Given the description of an element on the screen output the (x, y) to click on. 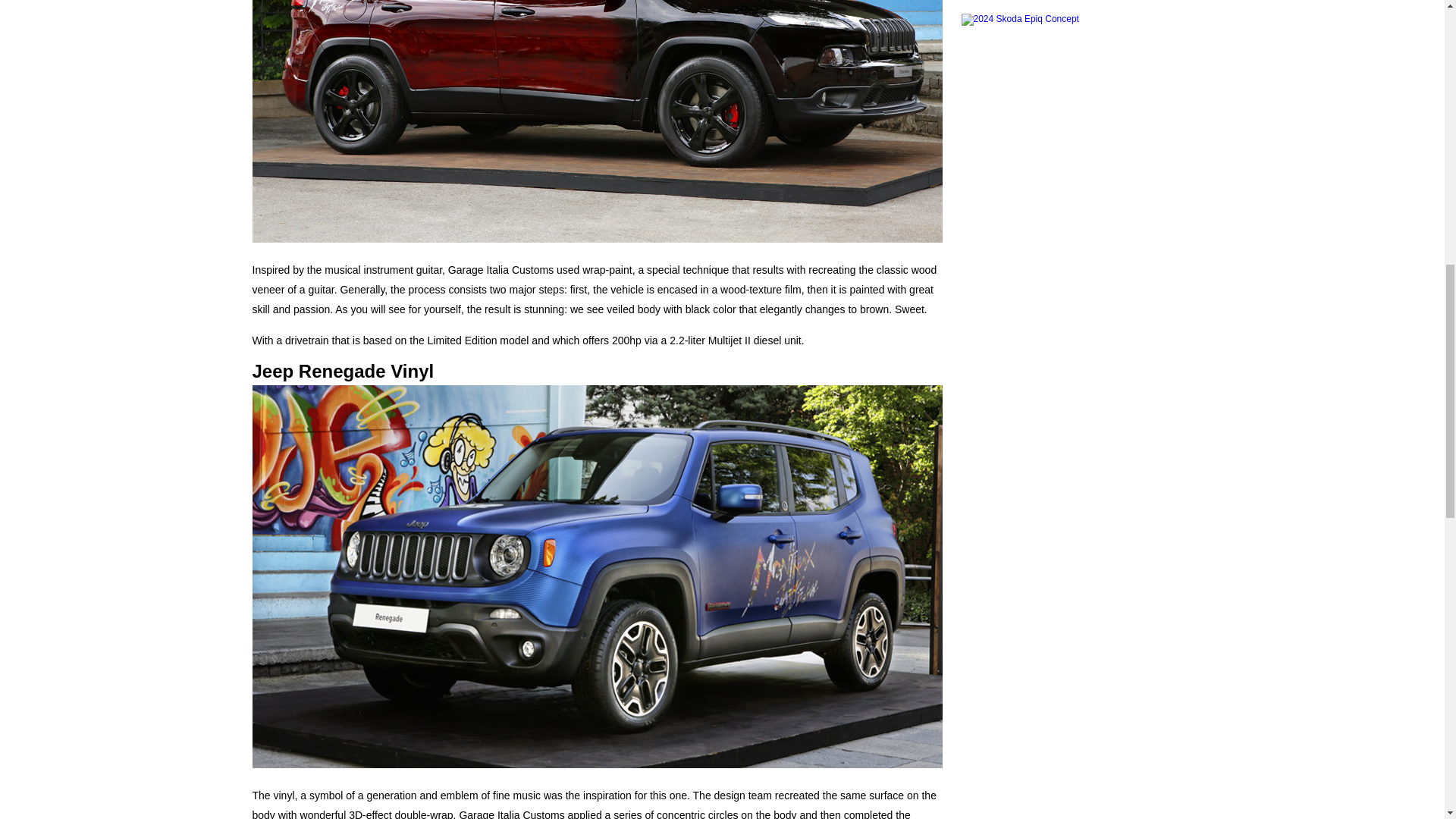
Skoda Epiq Concept (1074, 50)
Audi A3 allstreet (1074, 4)
